Given the description of an element on the screen output the (x, y) to click on. 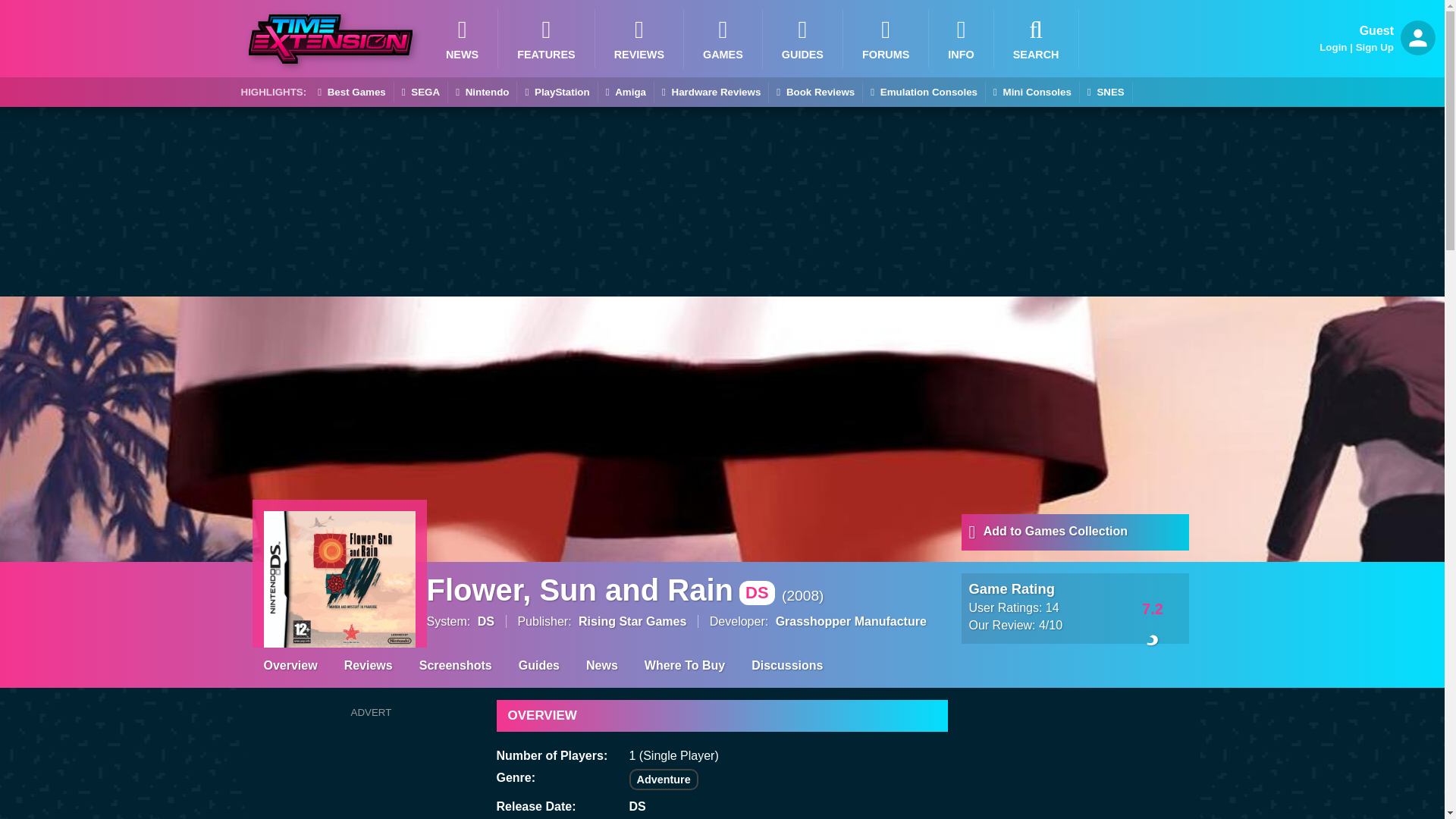
Best Games (351, 91)
Sign Up (1374, 47)
FEATURES (546, 38)
Home (960, 38)
The average score from our readers is 7.21 (1152, 606)
Hardware Reviews (710, 91)
Login (1332, 47)
PlayStation (556, 91)
SNES (1106, 91)
Time Extension (330, 38)
Mini Consoles (1031, 91)
Time Extension (330, 38)
Emulation Consoles (924, 91)
SEGA (420, 91)
Nintendo (482, 91)
